Given the description of an element on the screen output the (x, y) to click on. 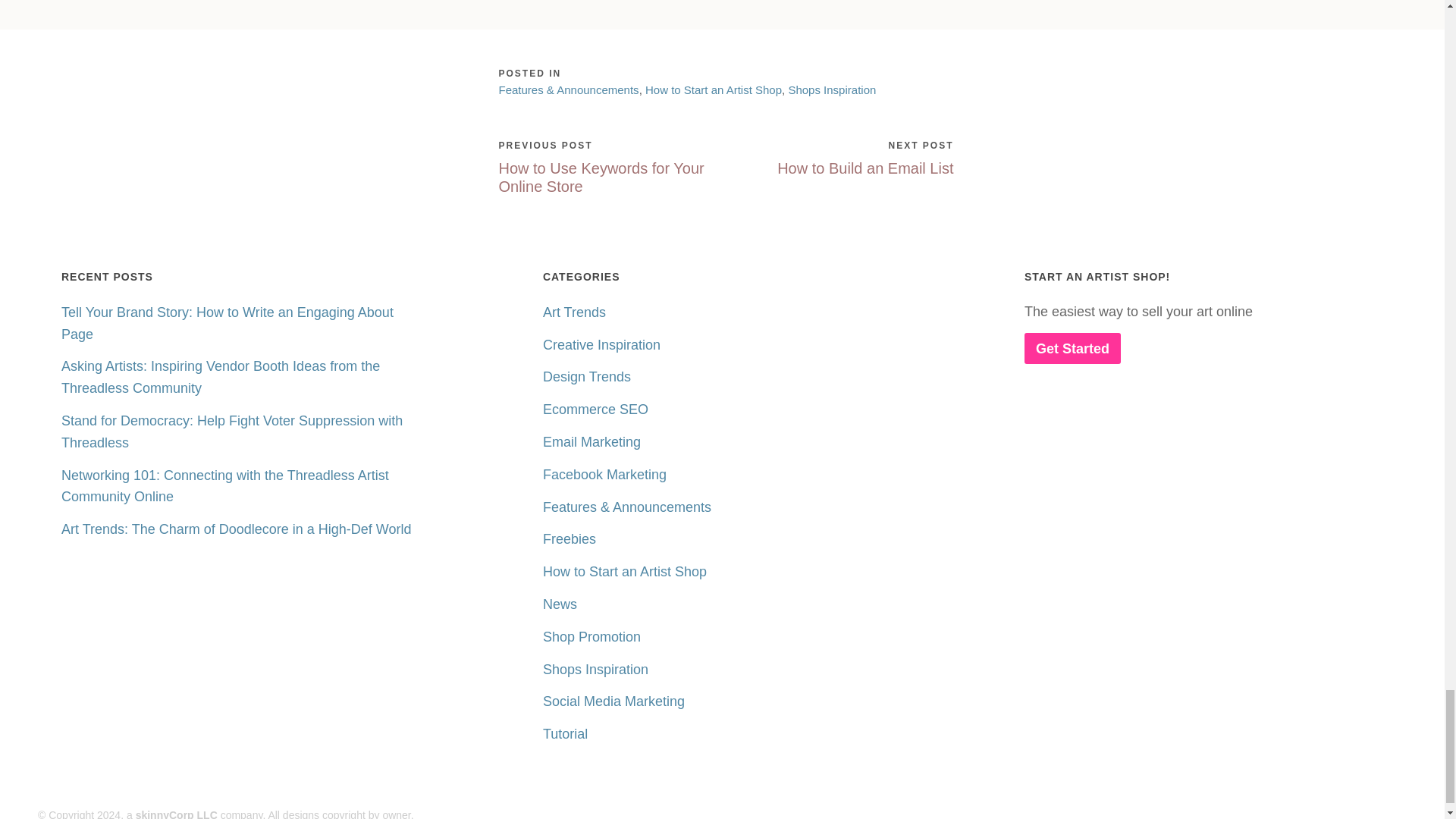
Shops Inspiration (831, 89)
How to Use Keywords for Your Online Store (601, 176)
How to Start an Artist Shop (713, 89)
